Given the description of an element on the screen output the (x, y) to click on. 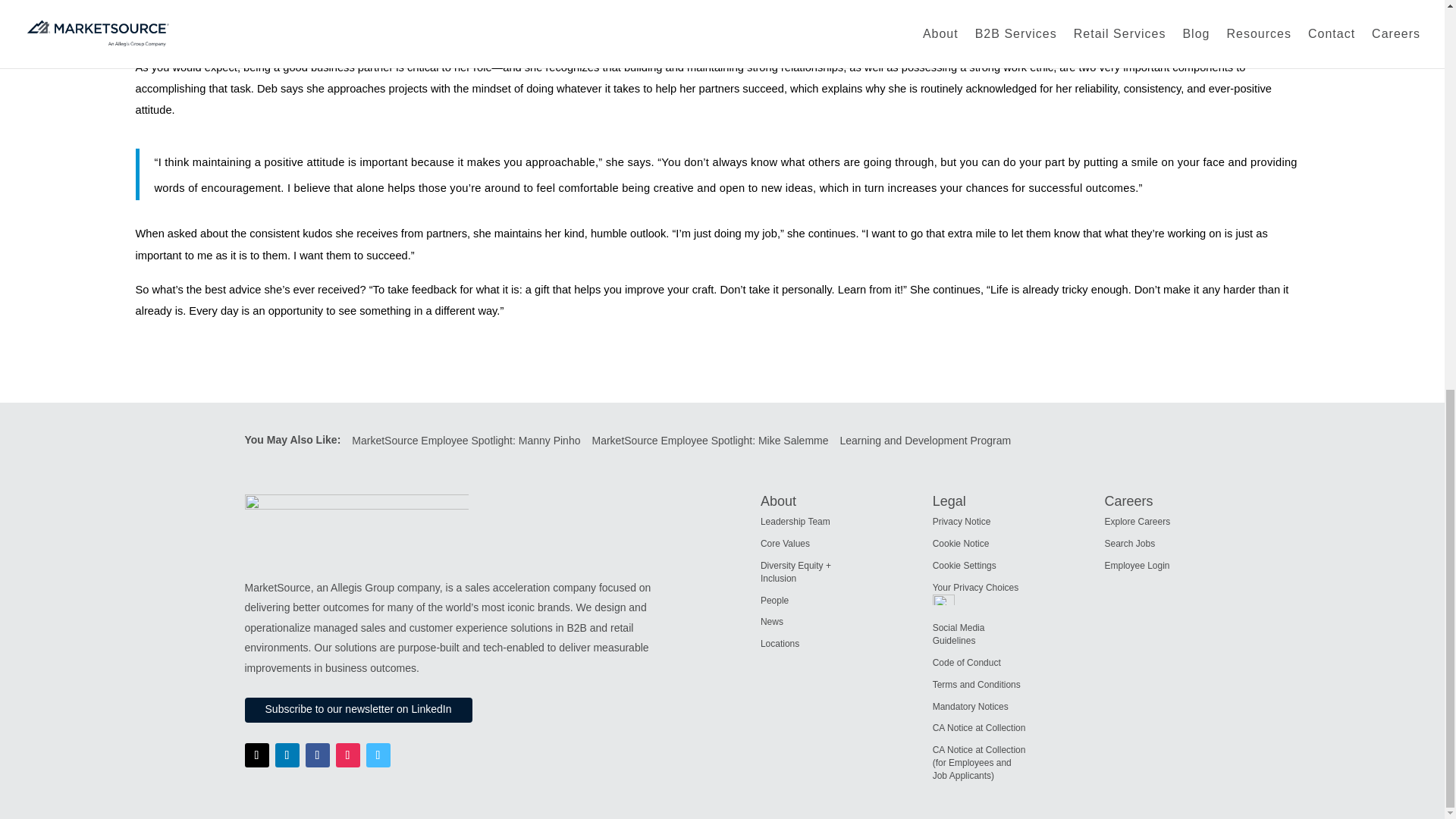
Subscribe to our newsletter on LinkedIn (357, 709)
Locations (779, 643)
Cookie Settings (964, 565)
About (778, 500)
Follow on Facebook (316, 754)
MarketSource Employee Spotlight: Manny Pinho (471, 440)
Follow on LinkedIn (286, 754)
Cookie Notice (961, 543)
News (771, 621)
Learning and Development Program (931, 440)
